Given the description of an element on the screen output the (x, y) to click on. 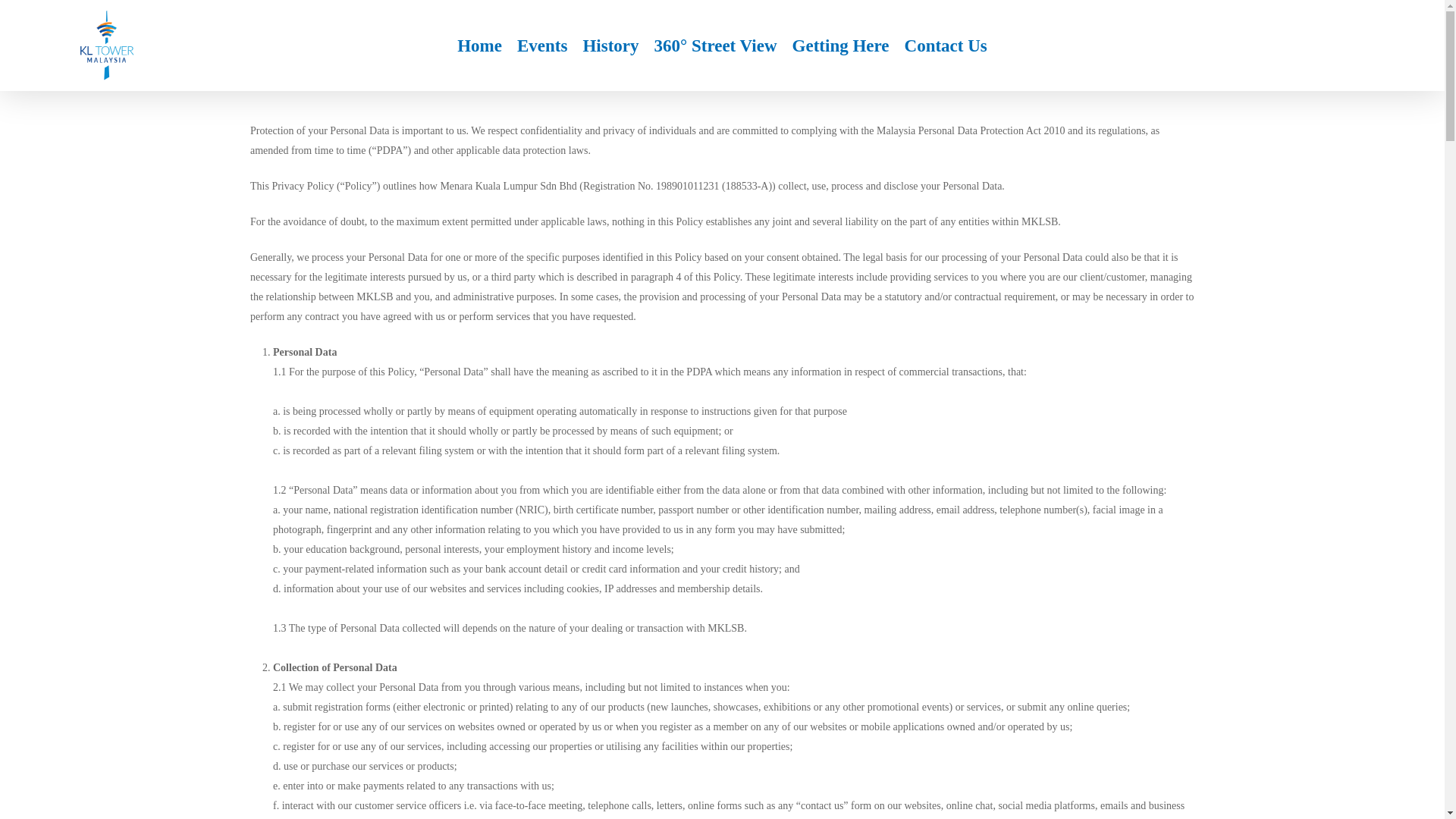
Contact Us (945, 44)
Getting Here (840, 44)
Home (479, 44)
History (610, 44)
Events (541, 44)
